Given the description of an element on the screen output the (x, y) to click on. 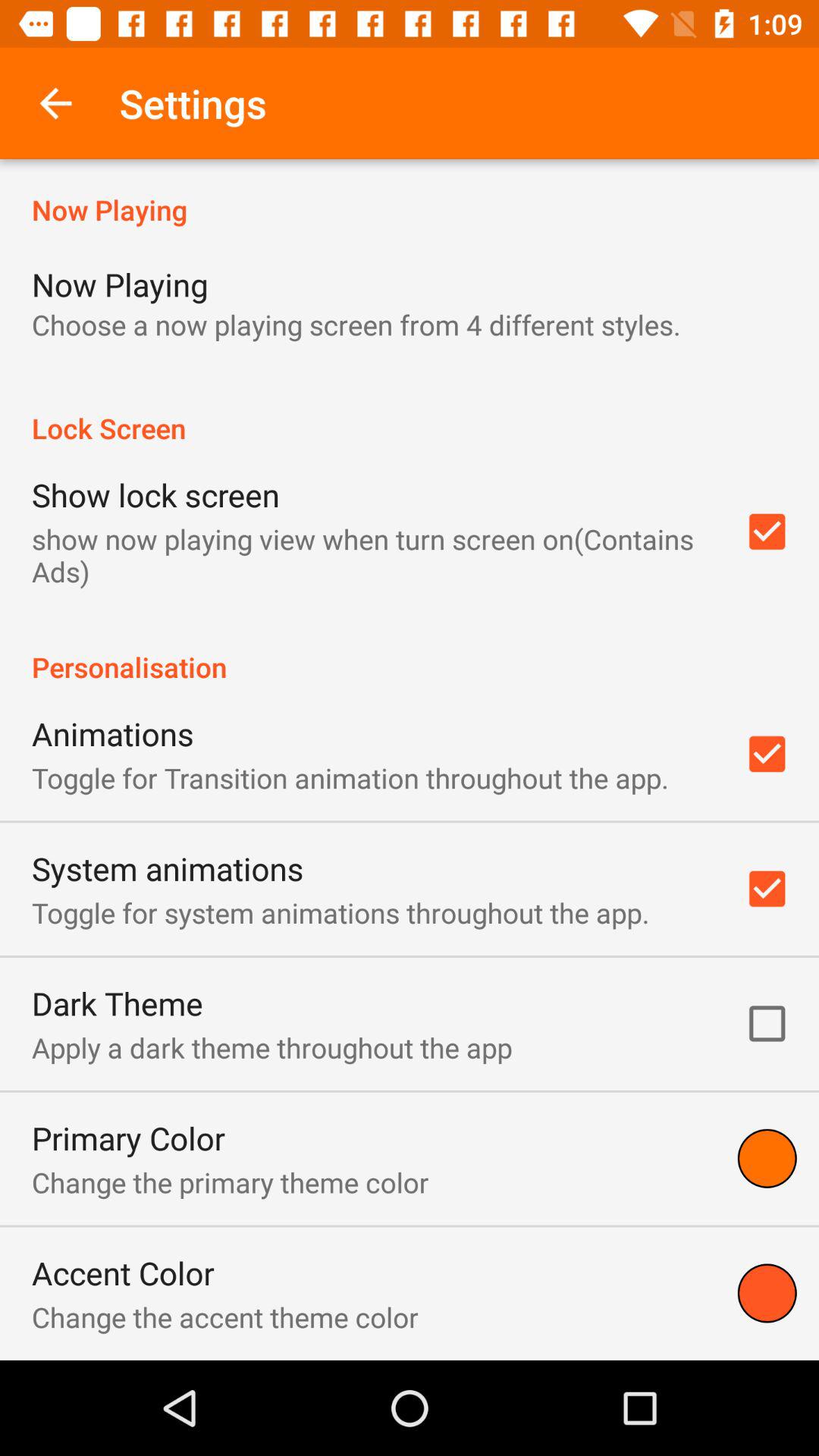
turn on item above the lock screen (355, 324)
